Given the description of an element on the screen output the (x, y) to click on. 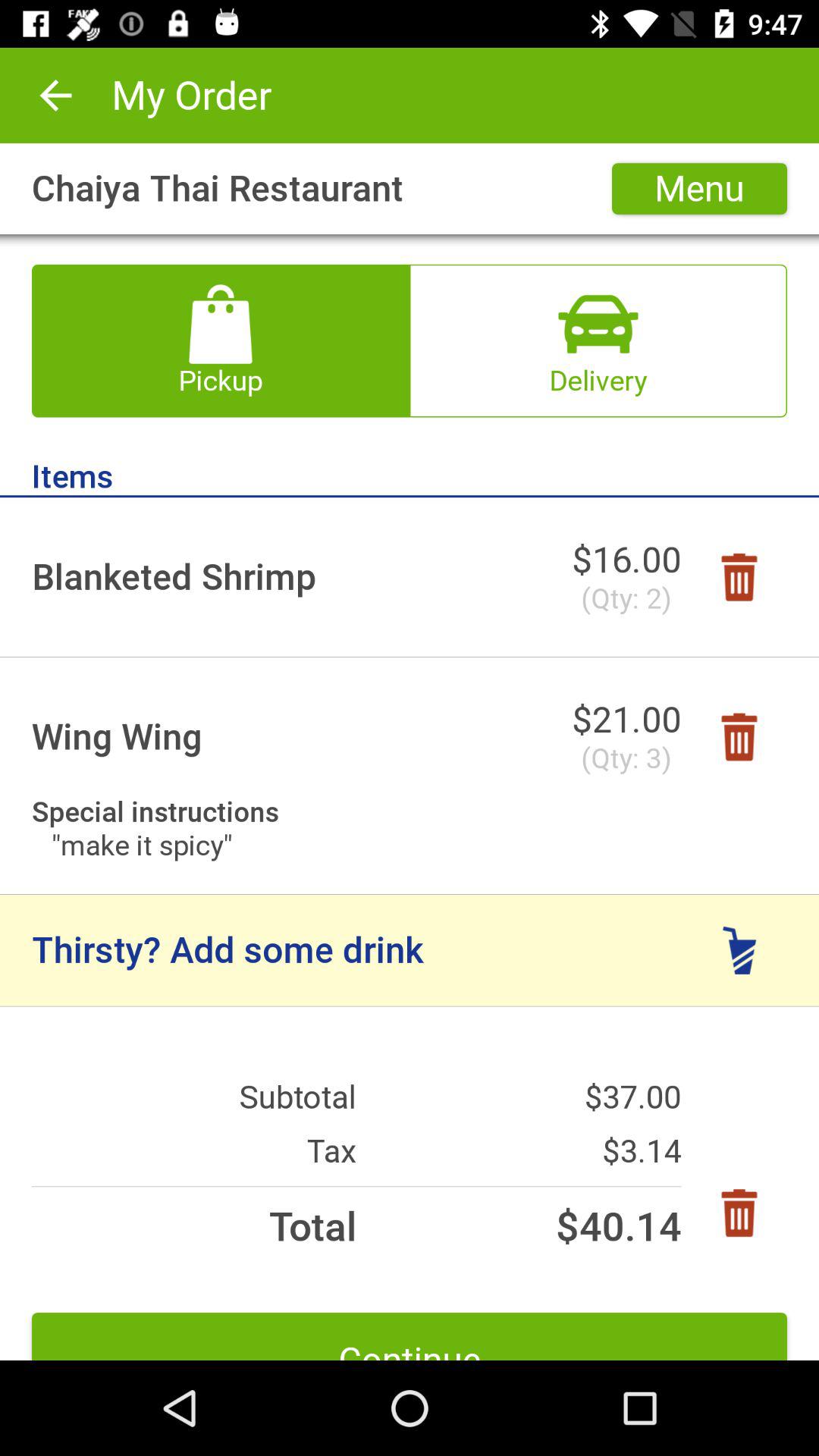
jump to continue icon (409, 1336)
